Given the description of an element on the screen output the (x, y) to click on. 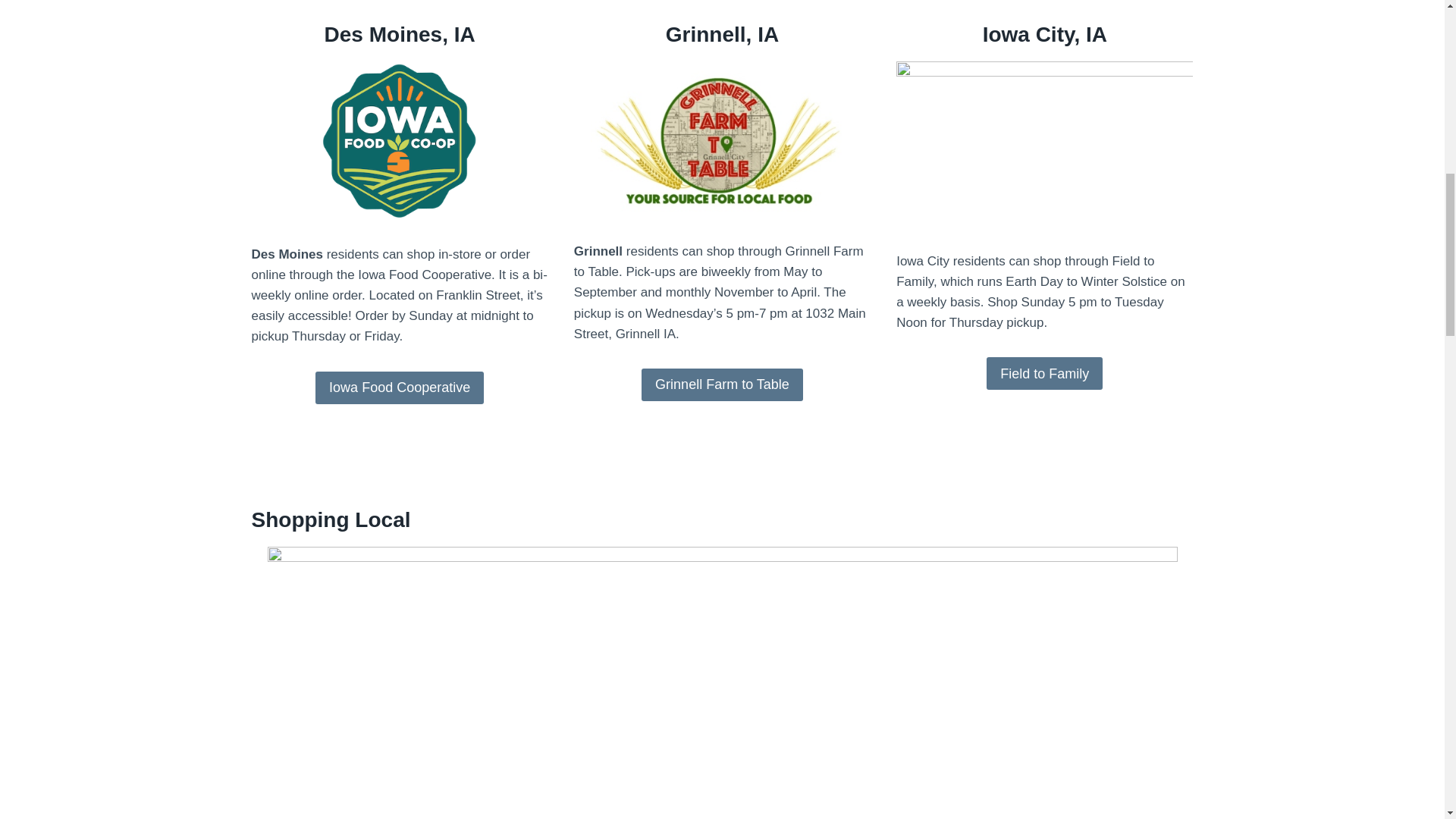
Iowa Food Cooperative (399, 387)
Field to Family (1044, 373)
